Given the description of an element on the screen output the (x, y) to click on. 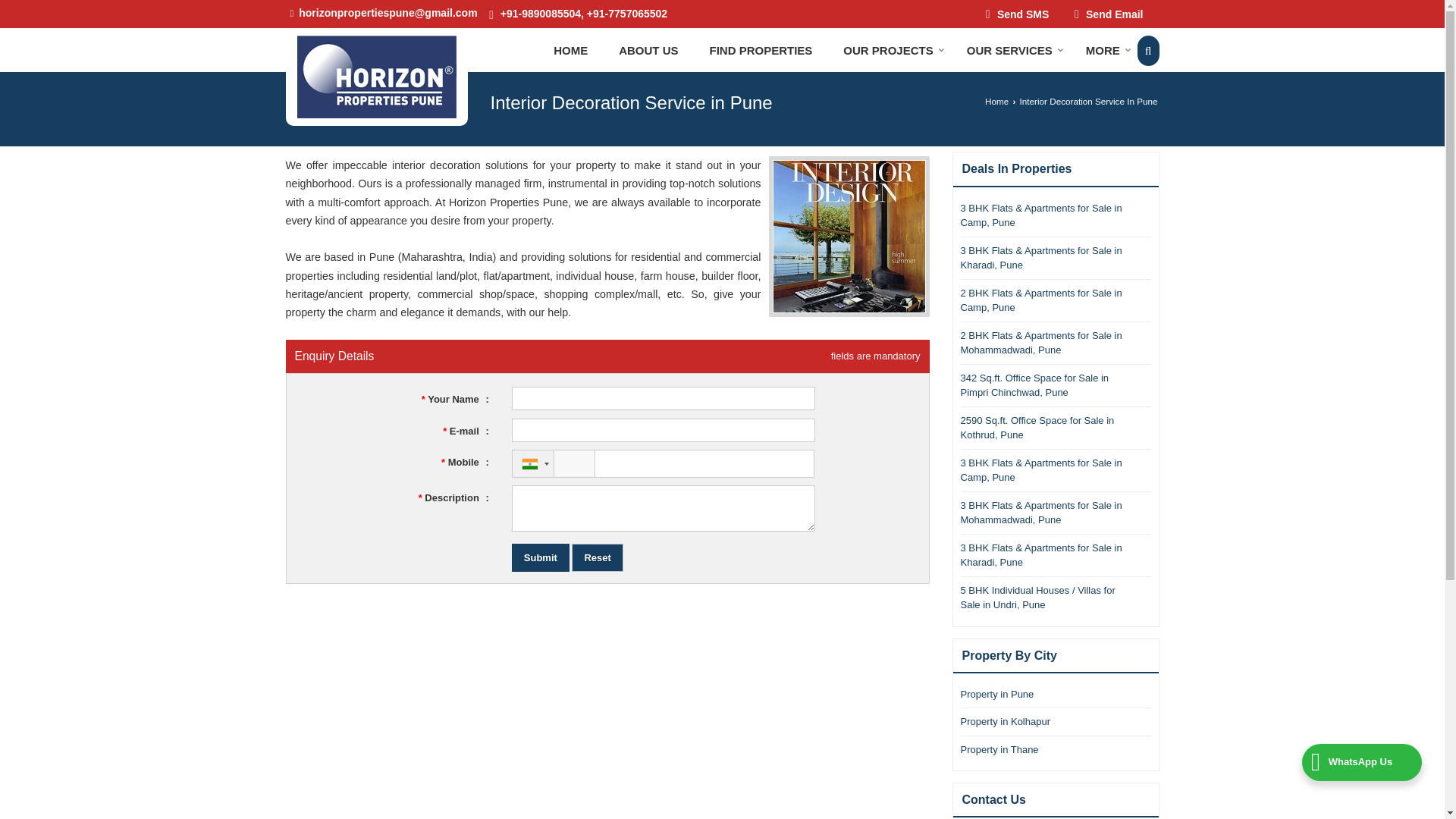
Our Projects (889, 51)
Send SMS (1017, 13)
MORE (1103, 51)
Home (570, 51)
FIND PROPERTIES (761, 51)
OUR PROJECTS (889, 51)
Reset (597, 557)
ABOUT US (648, 51)
Submit (540, 557)
HOME (570, 51)
Horizon Properties Pune (377, 76)
About Us (648, 51)
Send Email (1108, 13)
Find Properties (761, 51)
OUR SERVICES (1011, 51)
